Given the description of an element on the screen output the (x, y) to click on. 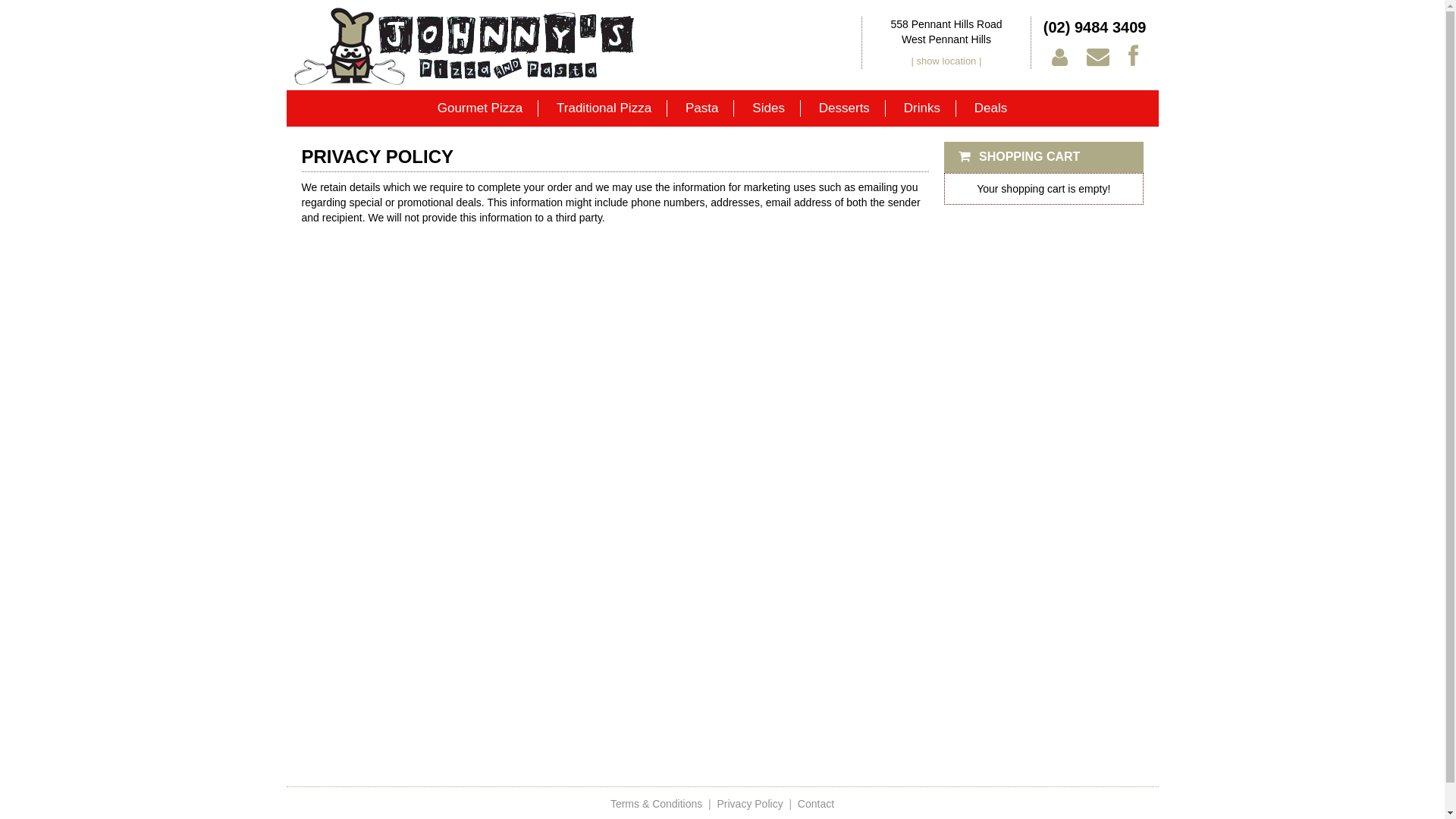
Deals Element type: text (990, 108)
Sides Element type: text (768, 108)
Drinks Element type: text (922, 108)
Desserts Element type: text (844, 108)
Traditional Pizza Element type: text (604, 108)
Terms & Conditions Element type: text (656, 803)
Contact Element type: text (815, 803)
Gourmet Pizza Element type: text (480, 108)
Privacy Policy Element type: text (750, 803)
| show location | Element type: text (946, 60)
Pasta Element type: text (702, 108)
